Given the description of an element on the screen output the (x, y) to click on. 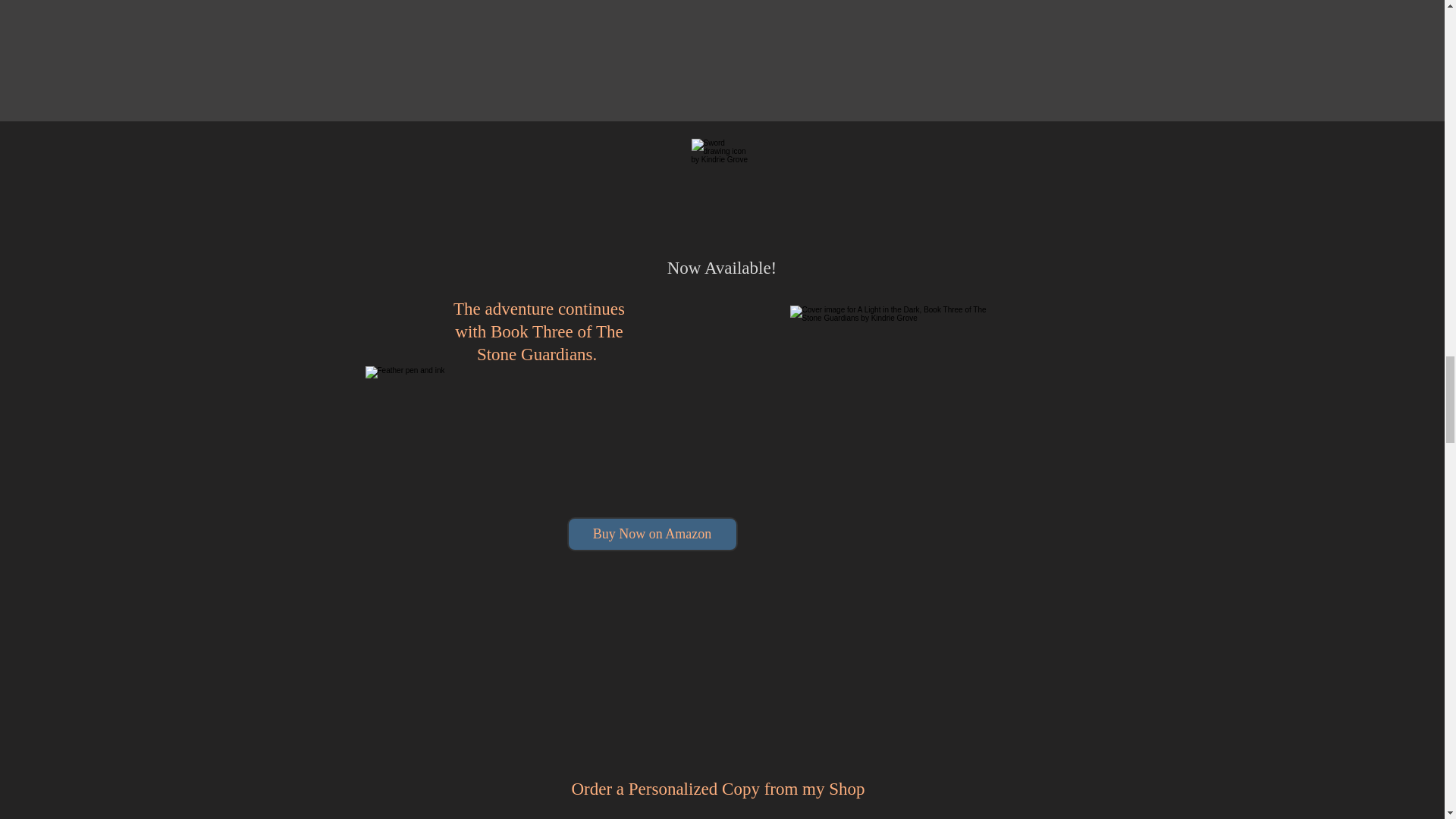
Buy Now on Amazon (652, 533)
